Given the description of an element on the screen output the (x, y) to click on. 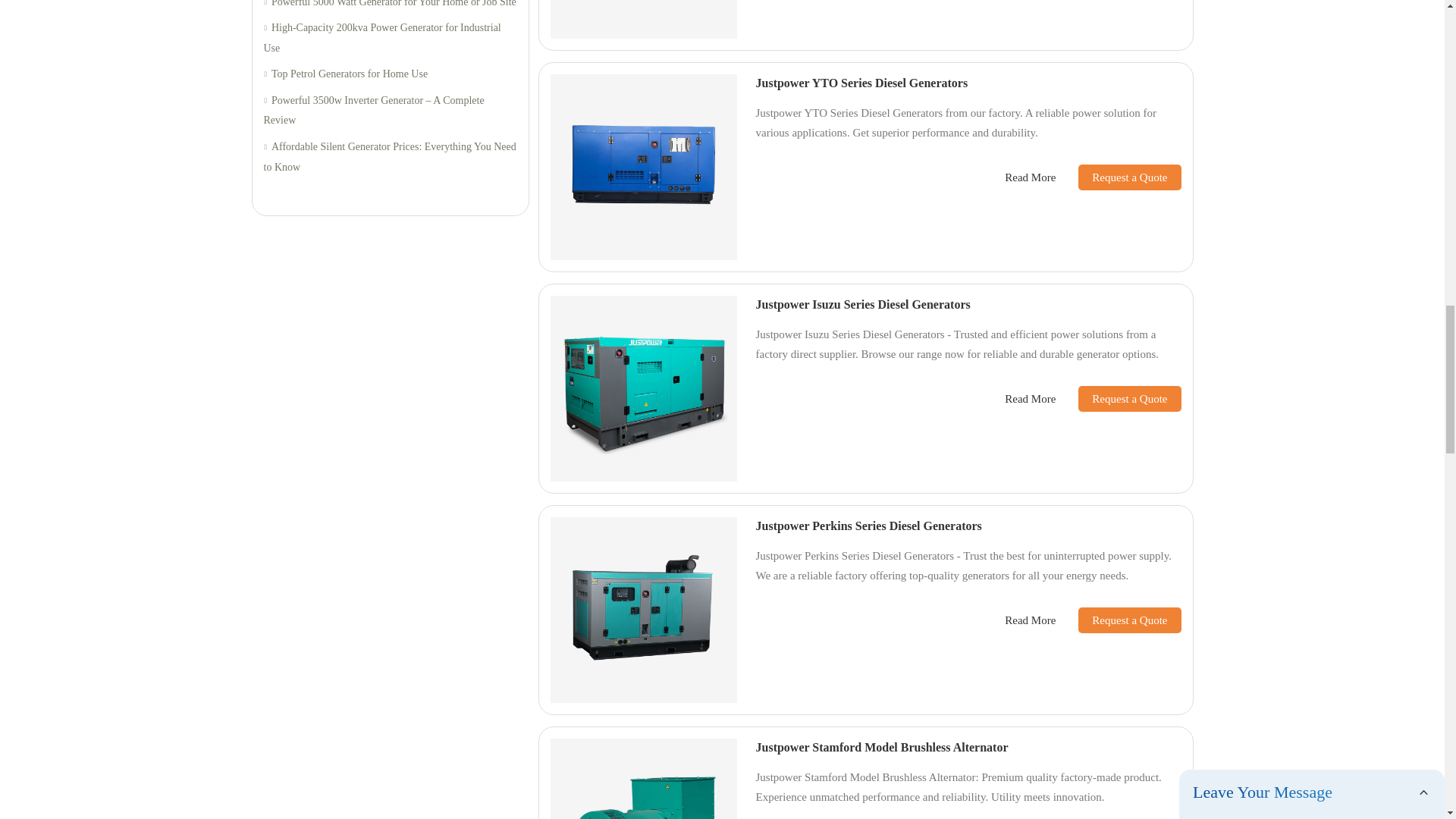
High-Capacity 200kva Power Generator for Industrial Use (389, 38)
Top Petrol Generators for Home Use (389, 74)
Powerful 5000 Watt Generator for Your Home or Job Site (389, 6)
